Given the description of an element on the screen output the (x, y) to click on. 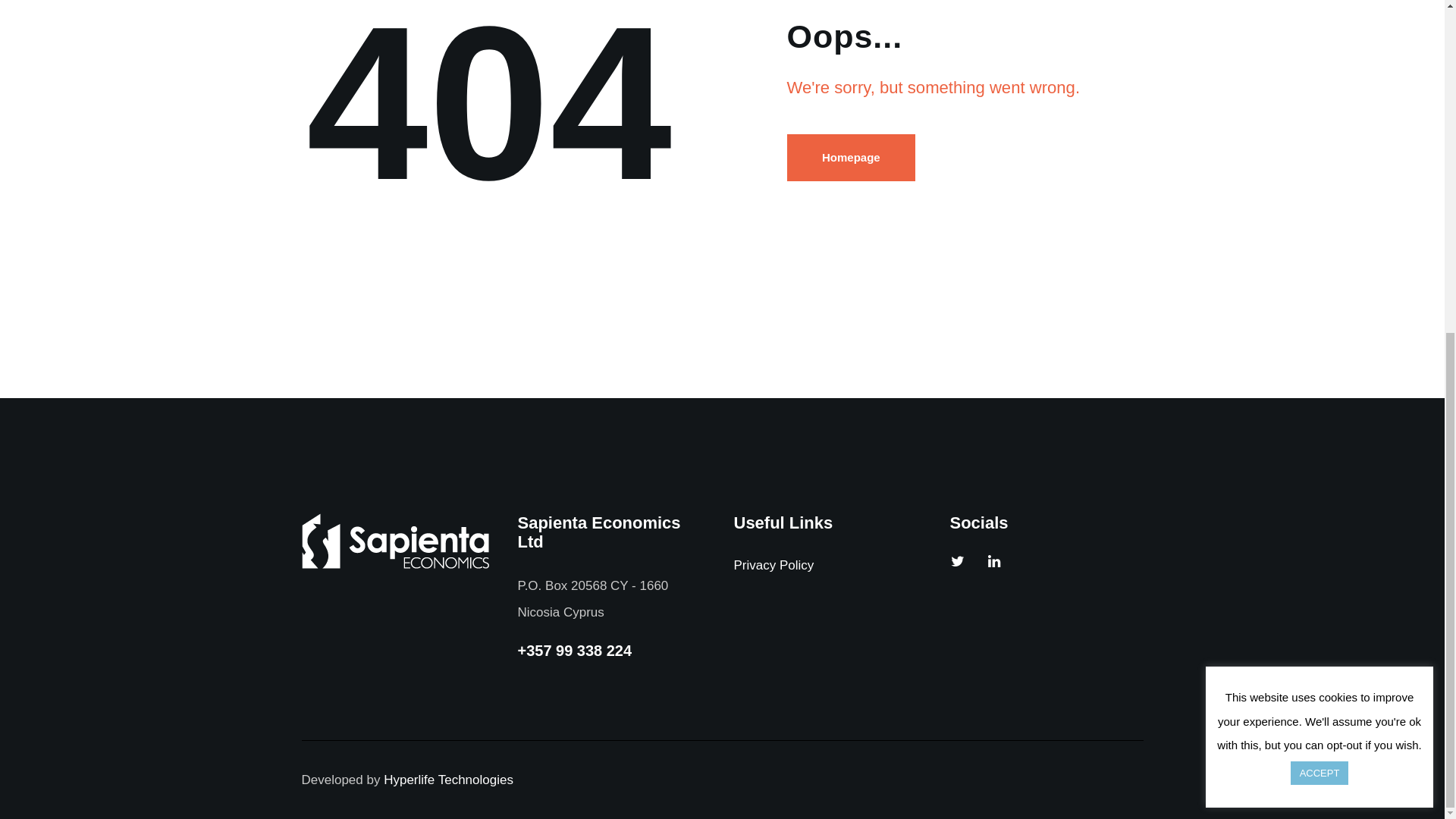
Hyperlife Technologies (448, 780)
ACCEPT (1319, 218)
Homepage (851, 157)
Privacy Policy (773, 564)
